Given the description of an element on the screen output the (x, y) to click on. 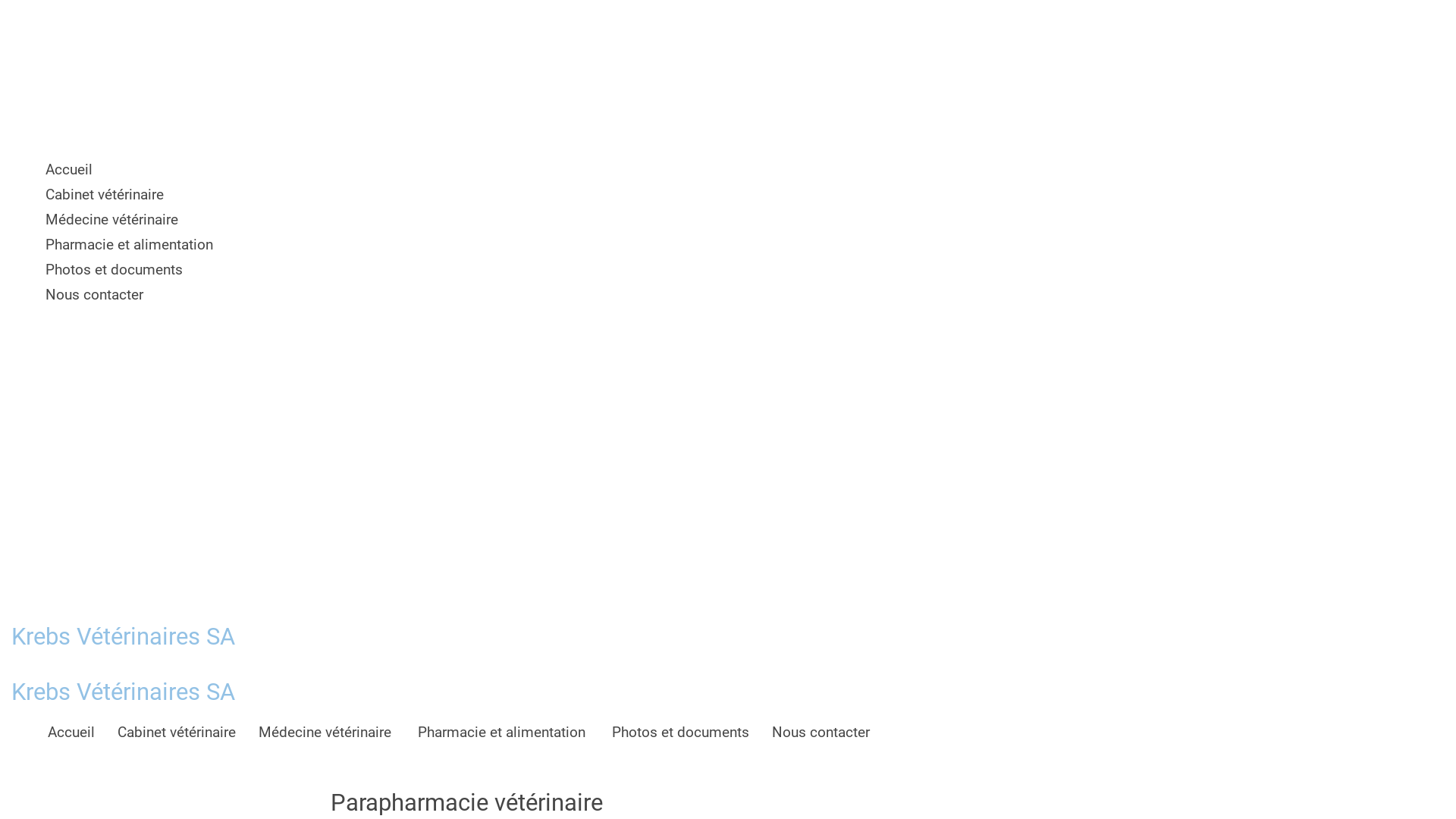
Pharmacie et alimentation Element type: text (503, 731)
Pharmacie et alimentation Element type: text (292, 244)
Accueil Element type: text (292, 169)
Nous contacter Element type: text (292, 294)
Nous contacter Element type: text (820, 731)
Accueil Element type: text (70, 731)
Photos et documents Element type: text (292, 269)
Photos et documents Element type: text (680, 731)
